Given the description of an element on the screen output the (x, y) to click on. 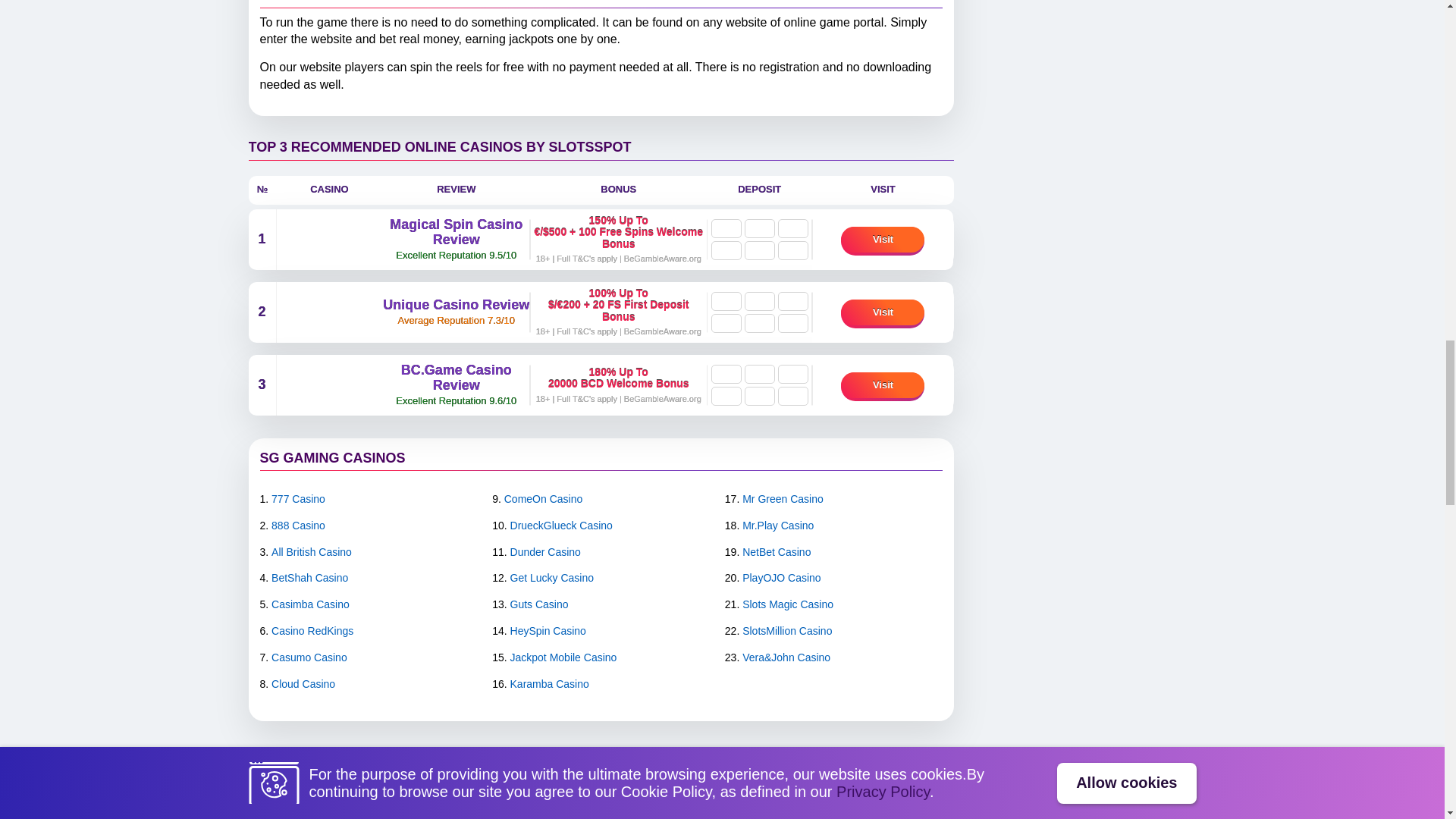
Maestro (726, 250)
Neteller (759, 250)
Ethereum (792, 374)
Bank Wire Transfer (726, 228)
Visa (759, 228)
Bitcoin Cash (759, 374)
Bitcoin (726, 374)
